Given the description of an element on the screen output the (x, y) to click on. 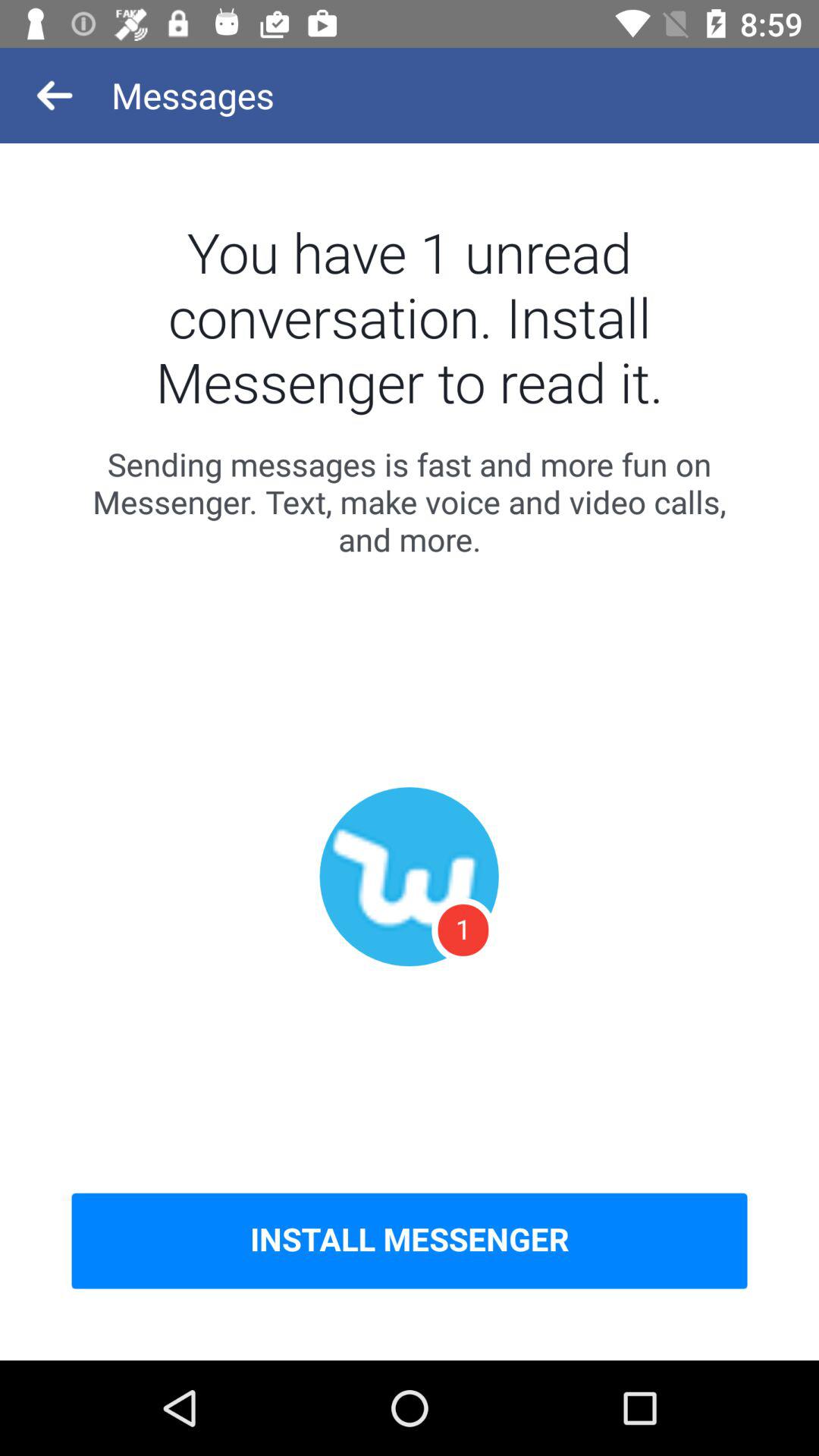
click item to the left of the messages icon (55, 95)
